Given the description of an element on the screen output the (x, y) to click on. 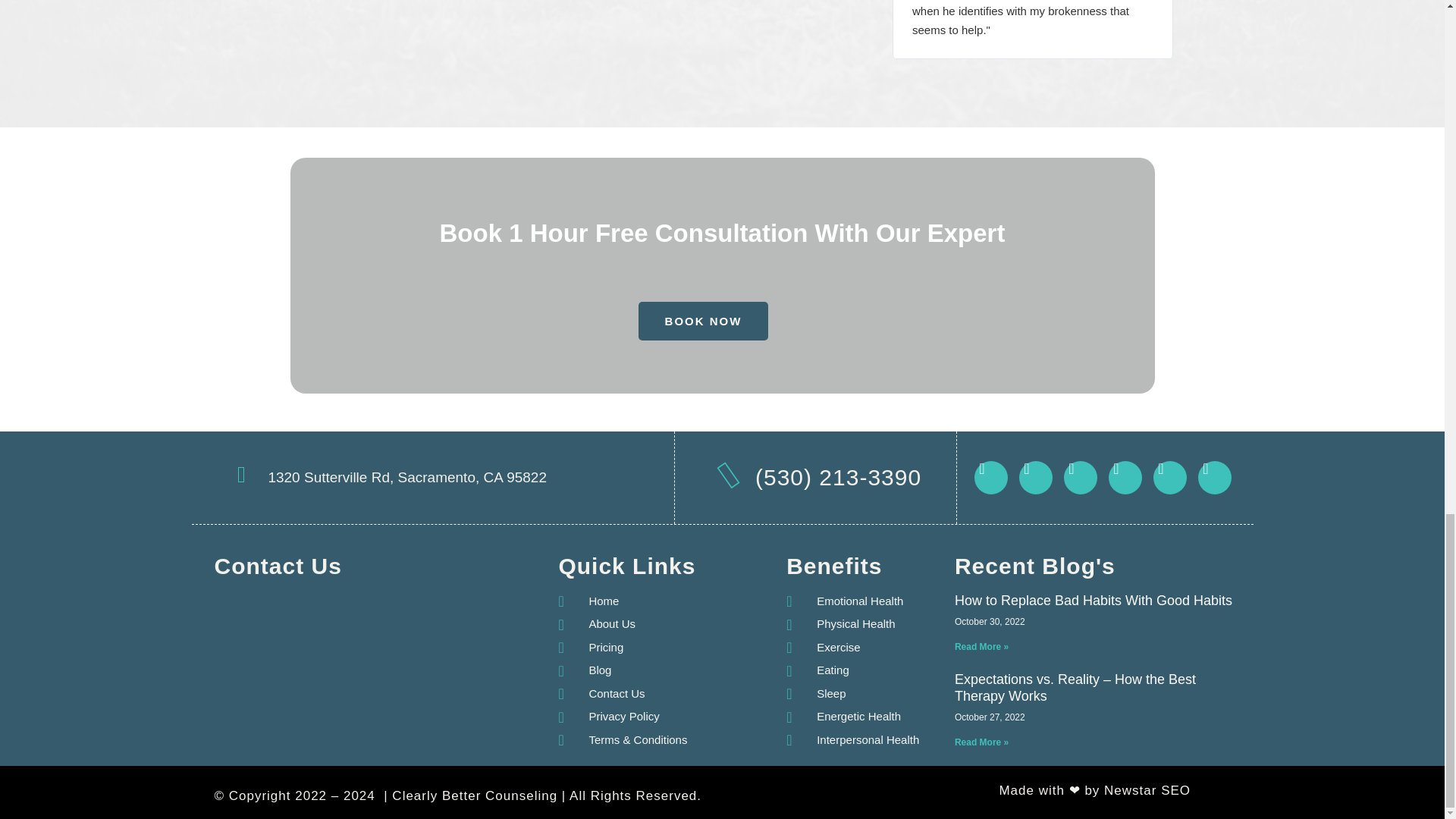
Pricing (590, 647)
BOOK NOW (703, 321)
About Us (595, 624)
Privacy Policy (608, 716)
Blog (584, 670)
Home (587, 601)
Contact Us (601, 693)
